Given the description of an element on the screen output the (x, y) to click on. 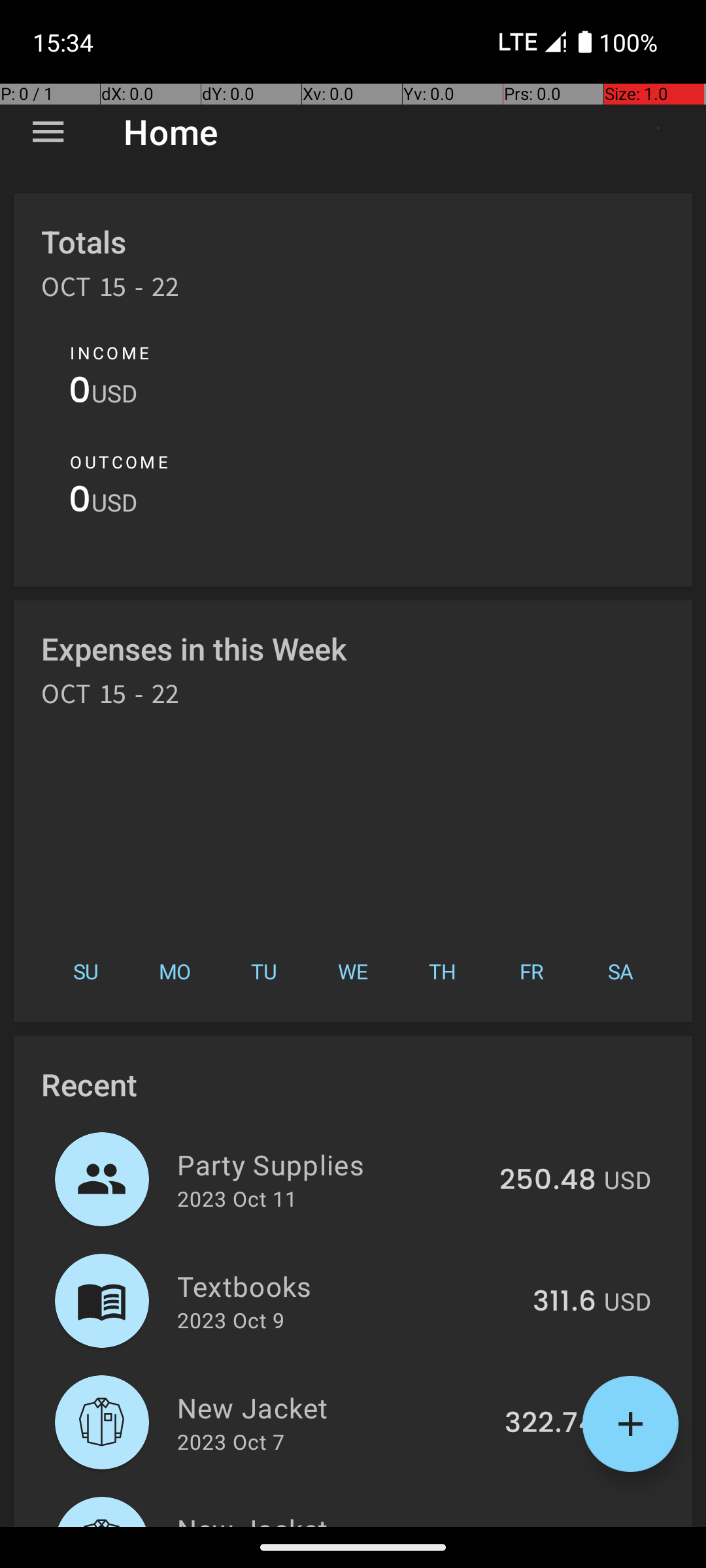
250.48 Element type: android.widget.TextView (547, 1180)
Textbooks Element type: android.widget.TextView (347, 1285)
311.6 Element type: android.widget.TextView (564, 1301)
New Jacket Element type: android.widget.TextView (333, 1407)
322.74 Element type: android.widget.TextView (550, 1423)
